Given the description of an element on the screen output the (x, y) to click on. 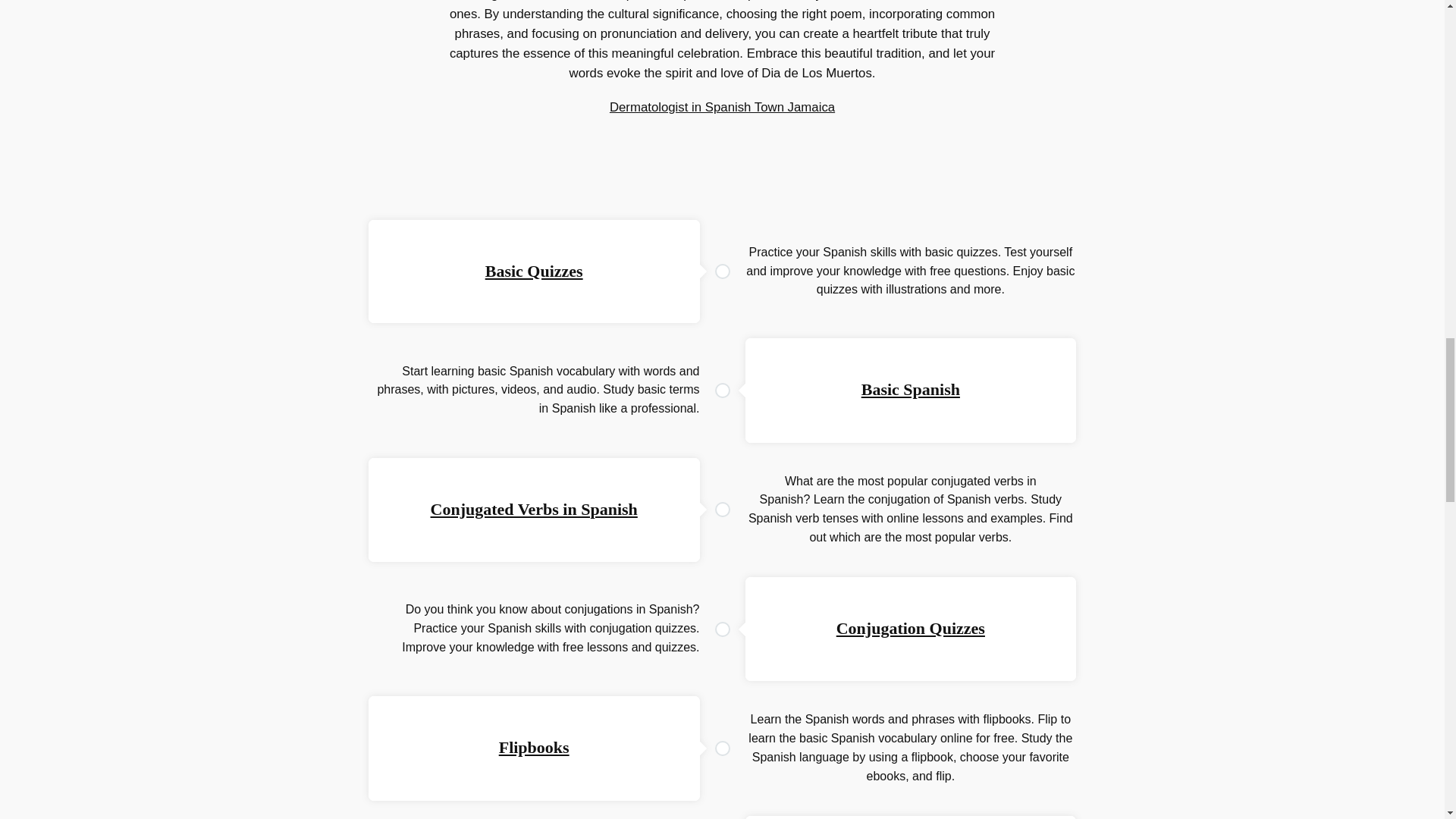
Dermatologist in Spanish Town Jamaica (722, 106)
Flipbooks (534, 746)
Conjugation Quizzes (910, 628)
Conjugated Verbs in Spanish (533, 507)
Basic Spanish (910, 389)
Basic Quizzes (533, 270)
